Given the description of an element on the screen output the (x, y) to click on. 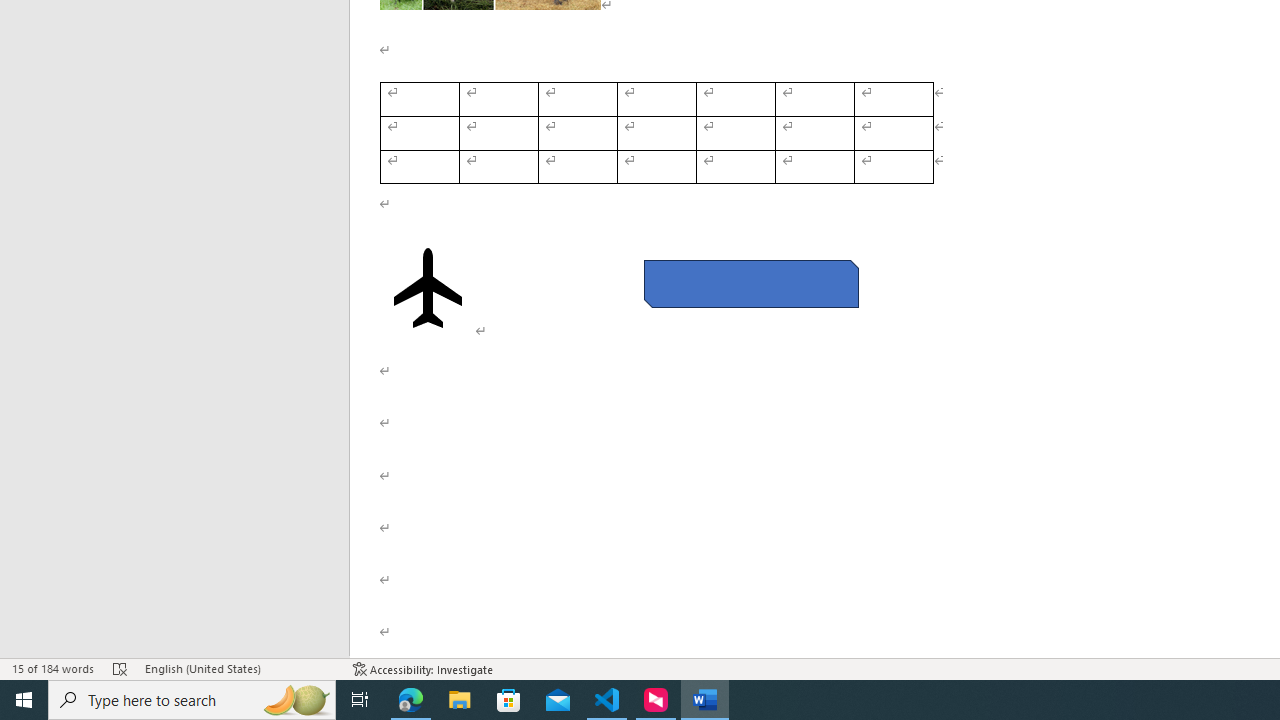
Rectangle: Diagonal Corners Snipped 2 (750, 283)
Spelling and Grammar Check Errors (120, 668)
Accessibility Checker Accessibility: Investigate (423, 668)
Airplane with solid fill (428, 287)
Language English (United States) (238, 668)
Word Count 15 of 184 words (52, 668)
